Given the description of an element on the screen output the (x, y) to click on. 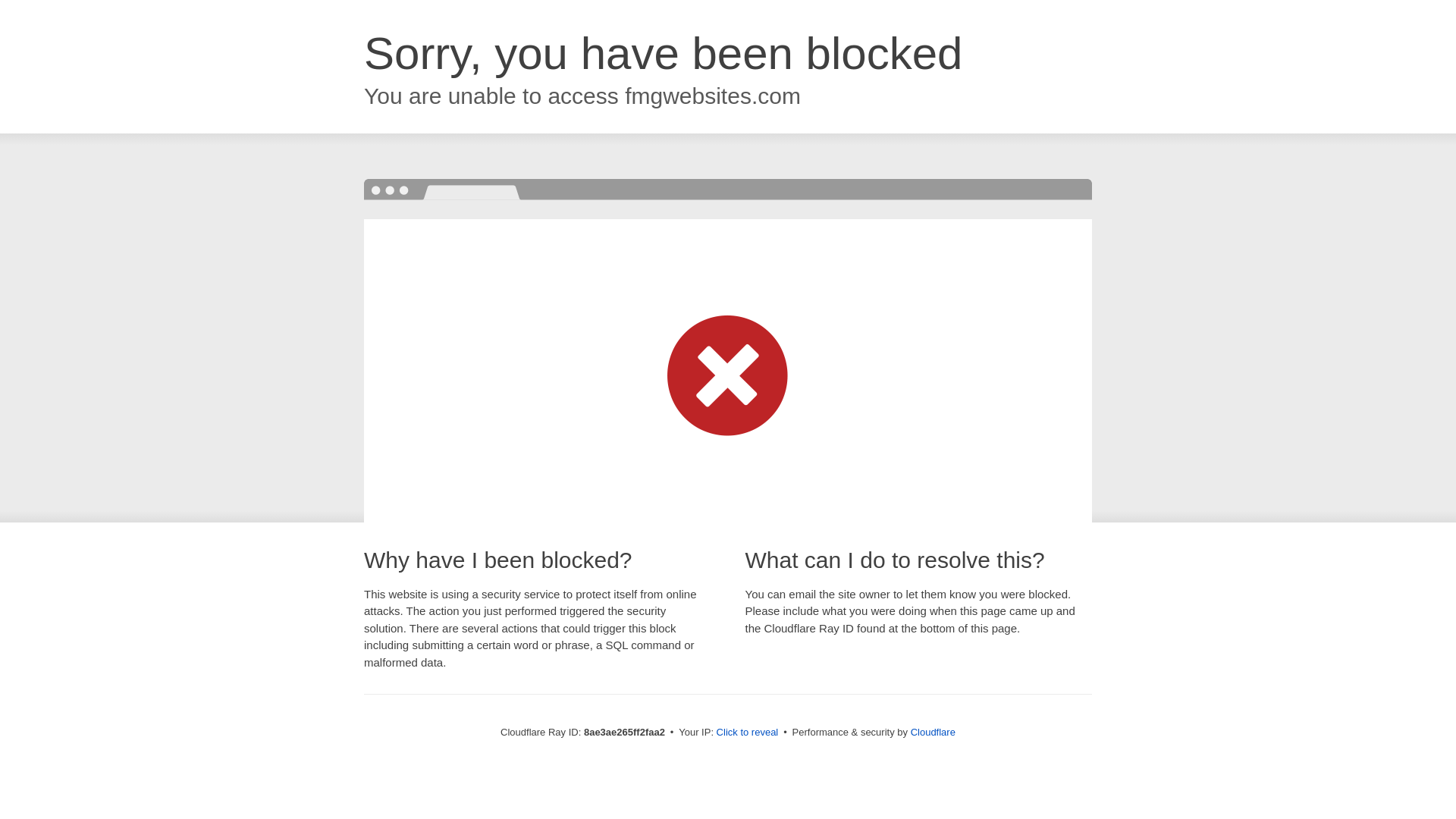
Cloudflare (933, 731)
Click to reveal (747, 732)
